Given the description of an element on the screen output the (x, y) to click on. 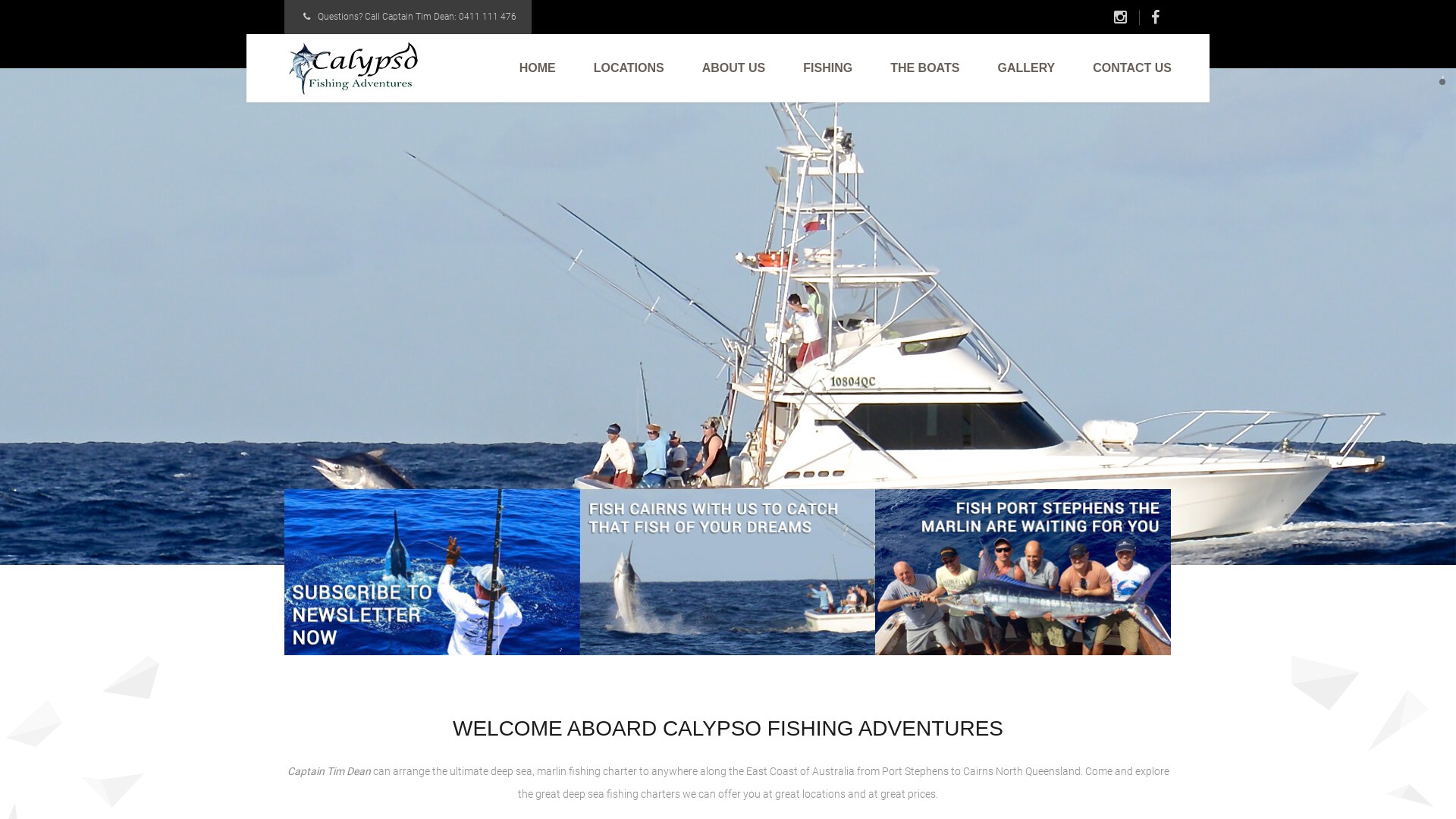
FISHING Element type: text (827, 68)
HOME Element type: text (537, 68)
Fish Port Stephens Element type: hover (1022, 572)
GALLERY Element type: text (1025, 68)
THE BOATS Element type: text (924, 68)
CONTACT US Element type: text (1131, 68)
Calypso Fishing Adventures Element type: hover (355, 68)
Newsletter Signup Element type: hover (432, 572)
ABOUT US Element type: text (733, 68)
Fish Cairns Element type: hover (727, 572)
LOCATIONS Element type: text (628, 68)
